Given the description of an element on the screen output the (x, y) to click on. 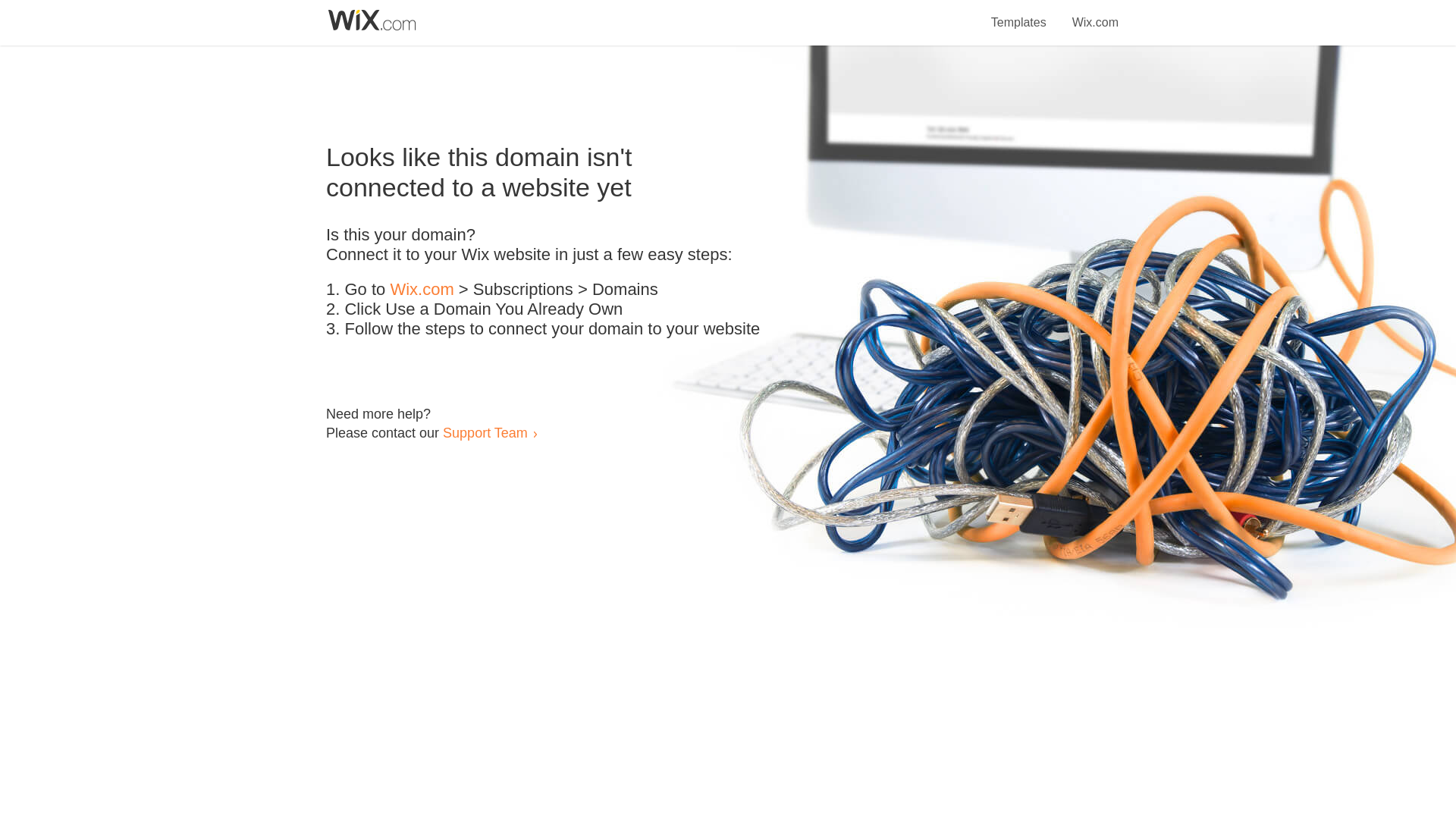
Wix.com (421, 289)
Templates (1018, 14)
Wix.com (1095, 14)
Support Team (484, 432)
